Given the description of an element on the screen output the (x, y) to click on. 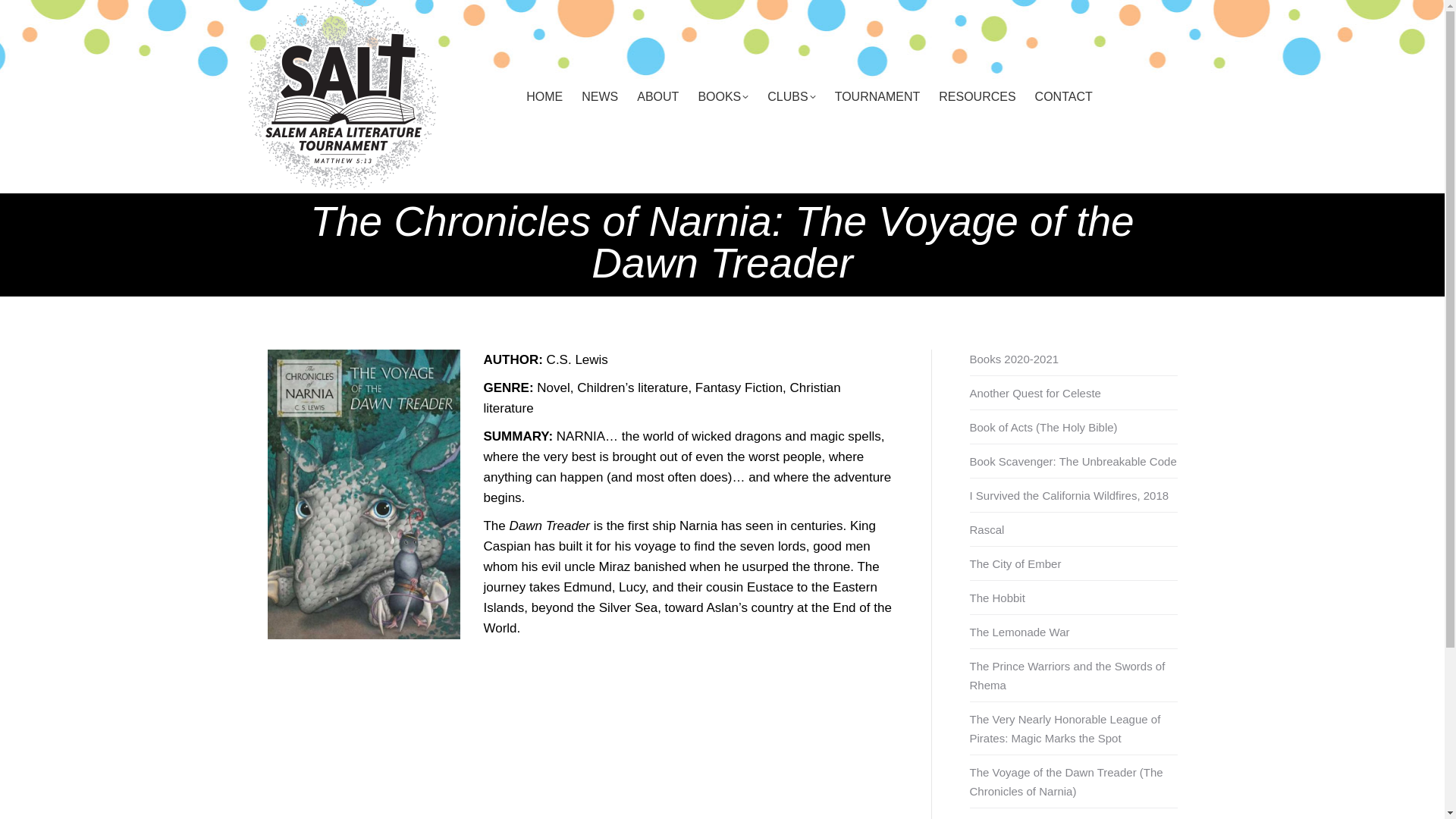
TOURNAMENT (877, 96)
HOME (544, 96)
NEWS (599, 96)
CONTACT (1063, 96)
ABOUT (657, 96)
RESOURCES (976, 96)
CLUBS (791, 96)
BOOKS (722, 96)
